Given the description of an element on the screen output the (x, y) to click on. 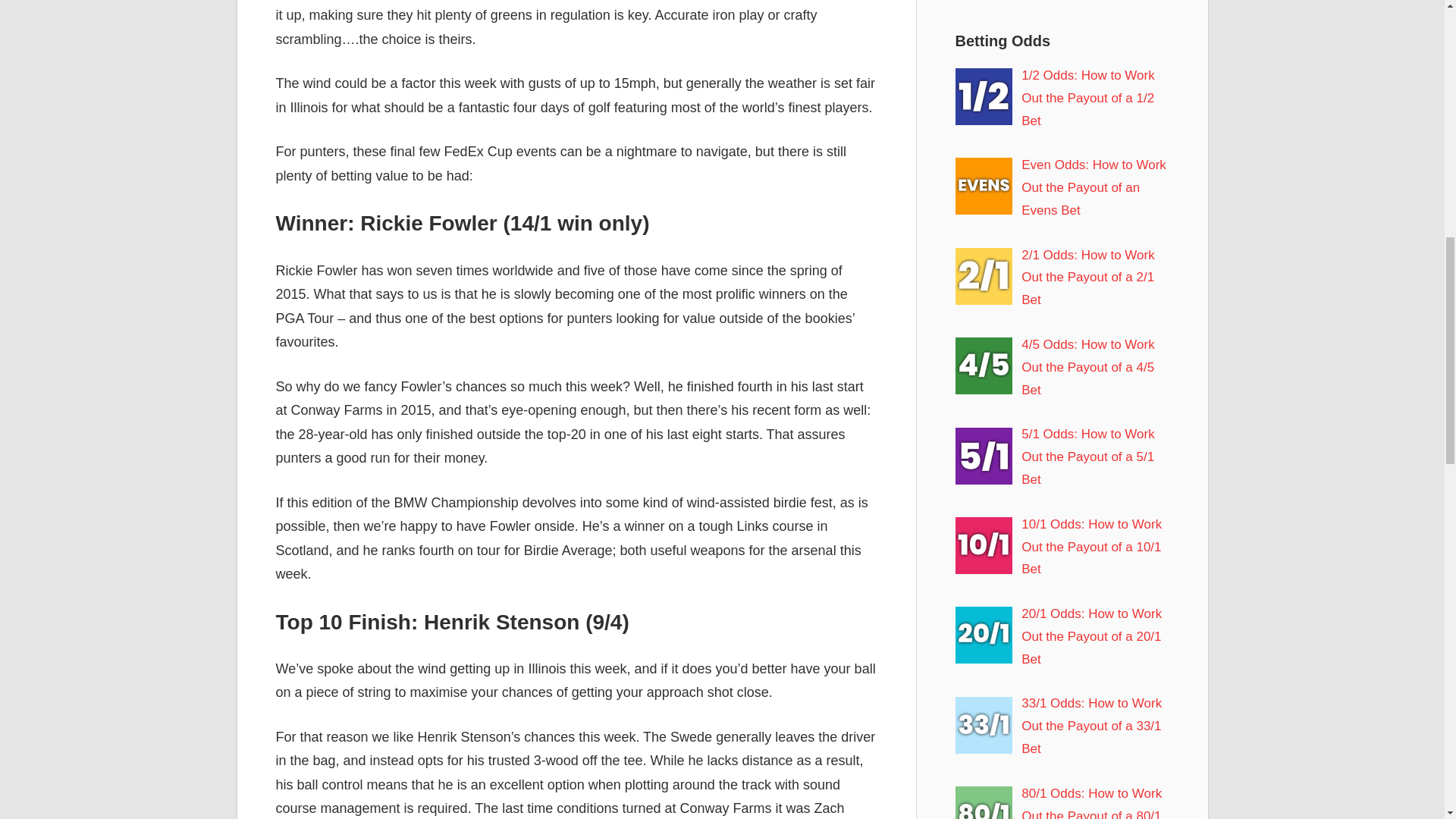
Even Odds: How to Work Out the Payout of an Evens Bet (1094, 187)
